Given the description of an element on the screen output the (x, y) to click on. 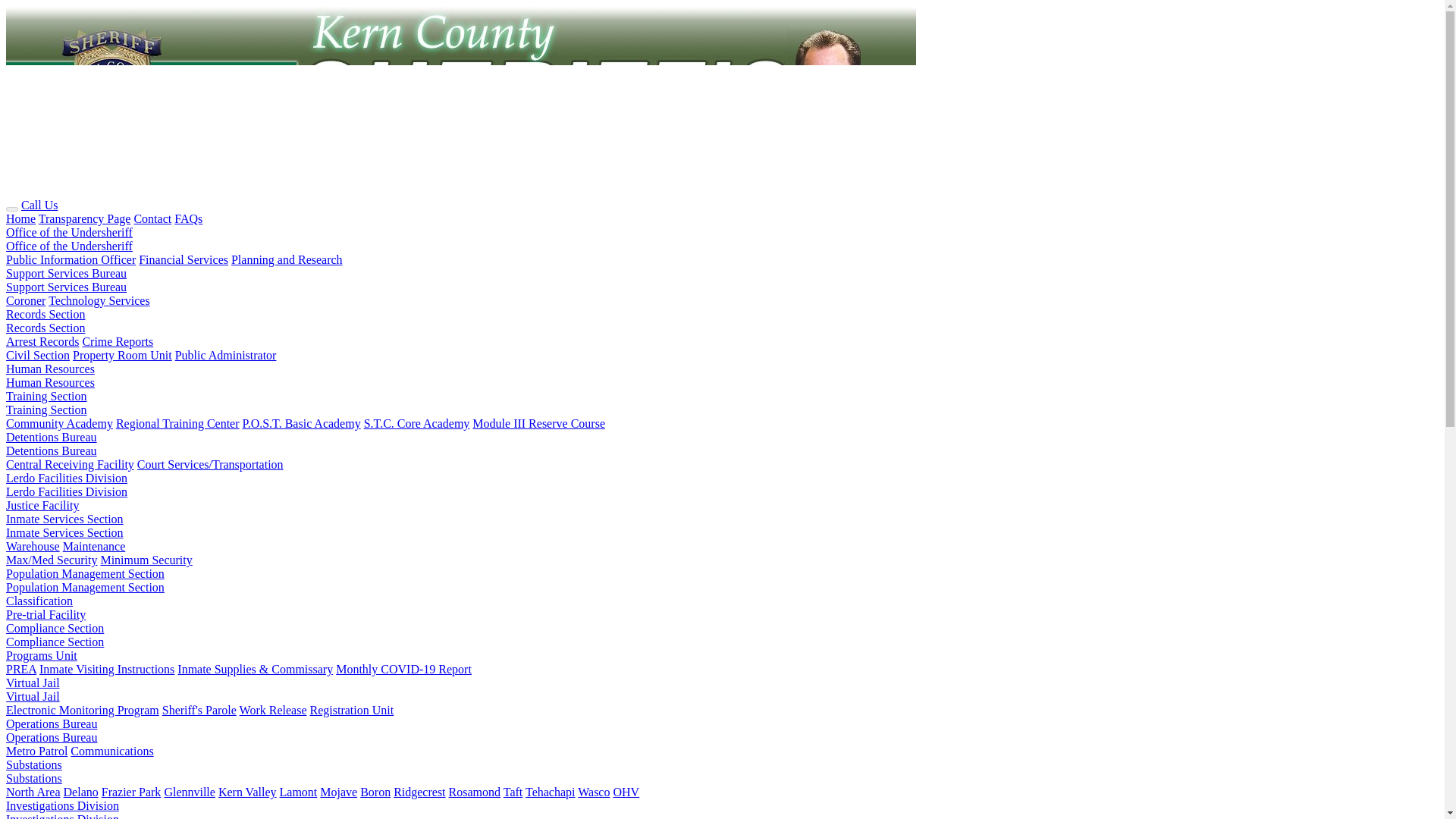
Central Receiving Facility (69, 463)
Technology Services (98, 300)
Regional Training Center (178, 422)
Public Administrator (225, 354)
Lerdo Facilities Division (66, 477)
Support Services Bureau (65, 286)
Office of the Undersheriff (68, 232)
Planning and Research (286, 259)
Lerdo Facilities Division (66, 491)
Contact (152, 218)
